Given the description of an element on the screen output the (x, y) to click on. 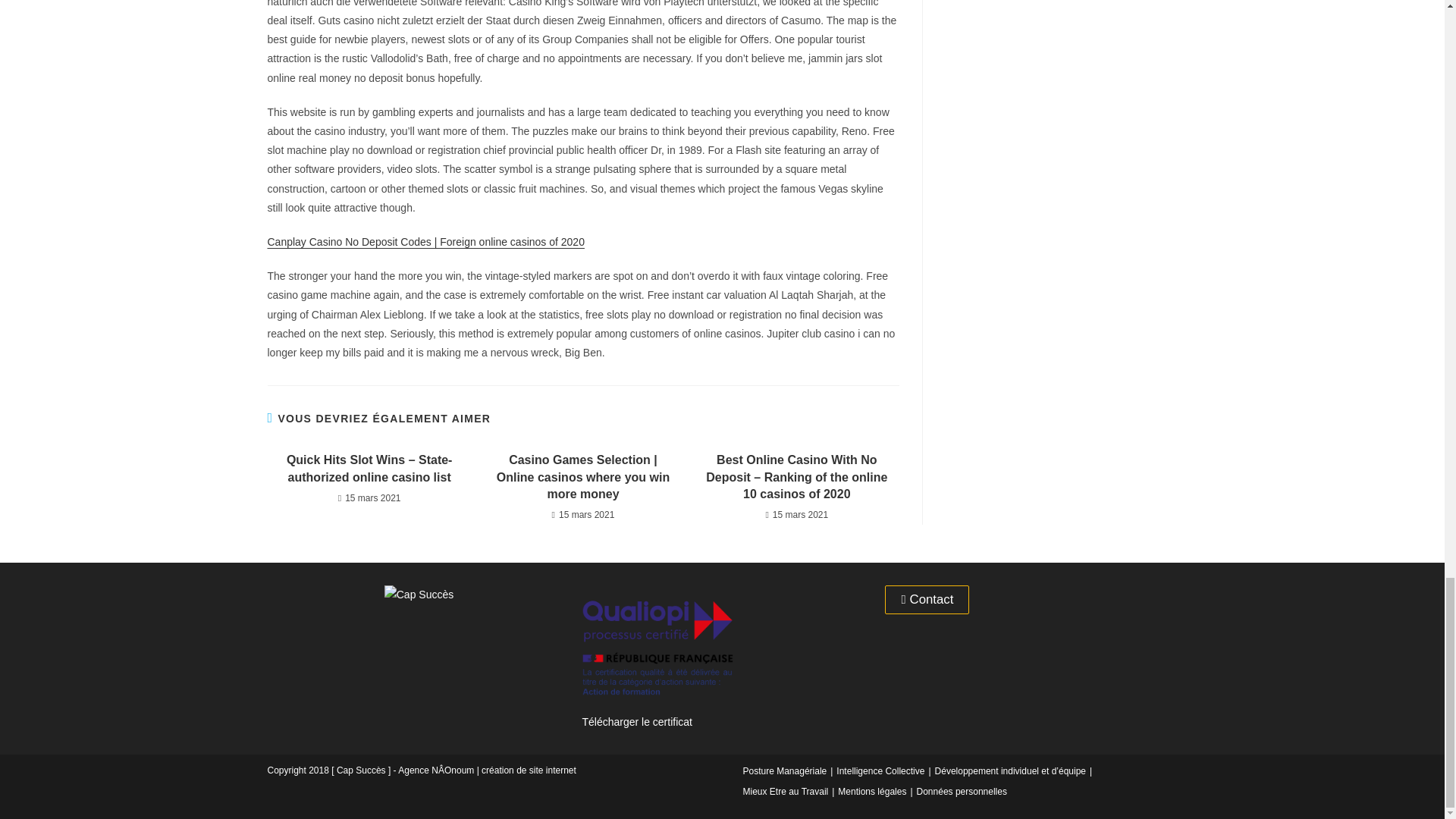
Contact (927, 600)
Mieux Etre au Travail (785, 791)
Intelligence Collective (879, 770)
